Given the description of an element on the screen output the (x, y) to click on. 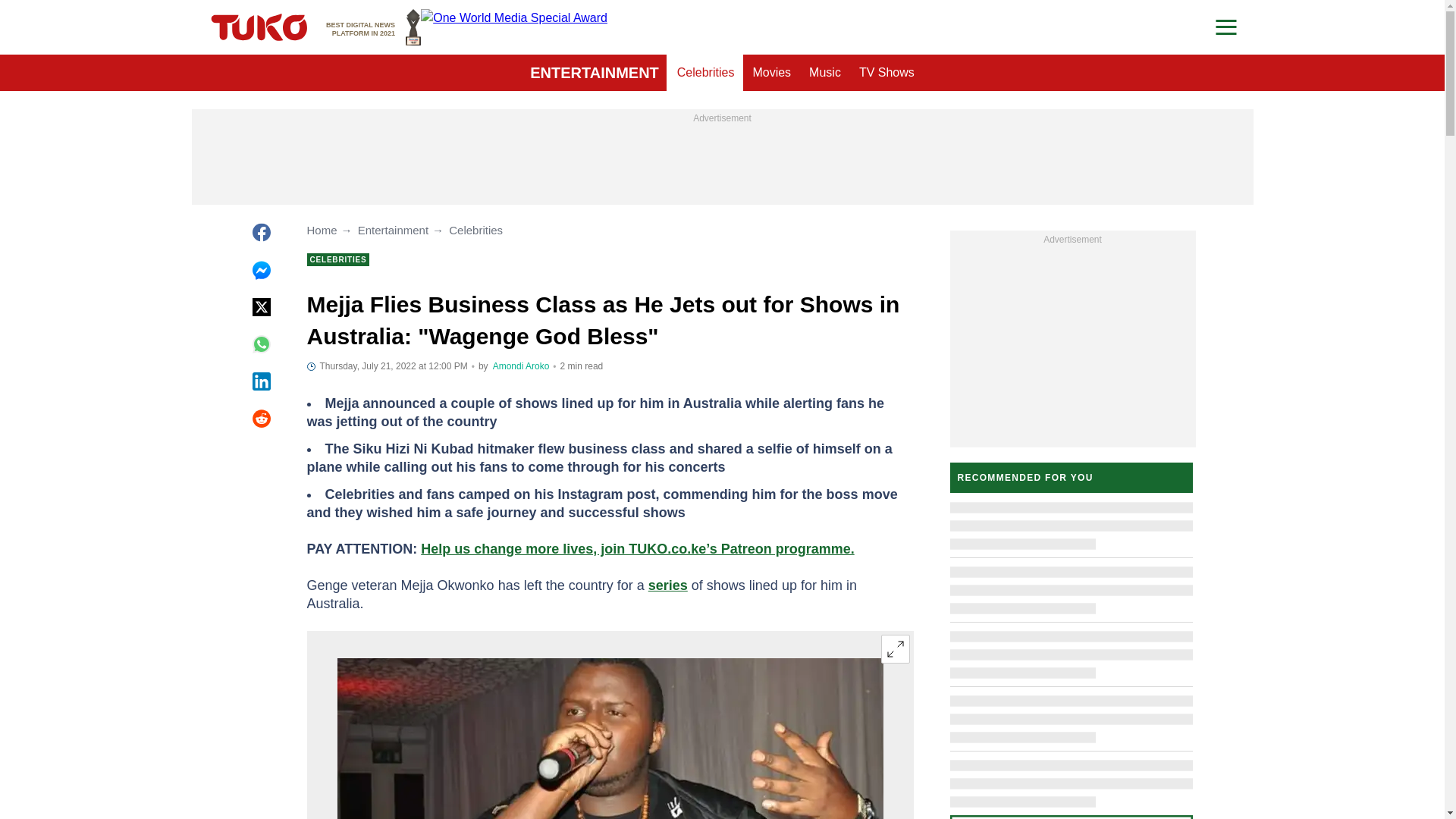
Expand image (895, 648)
ENTERTAINMENT (594, 72)
TV Shows (886, 72)
Author page (521, 366)
Mejja is heading to Australia for shows. Photo: Mejja Genge. (609, 738)
Music (373, 27)
Celebrities (824, 72)
Movies (706, 72)
